Given the description of an element on the screen output the (x, y) to click on. 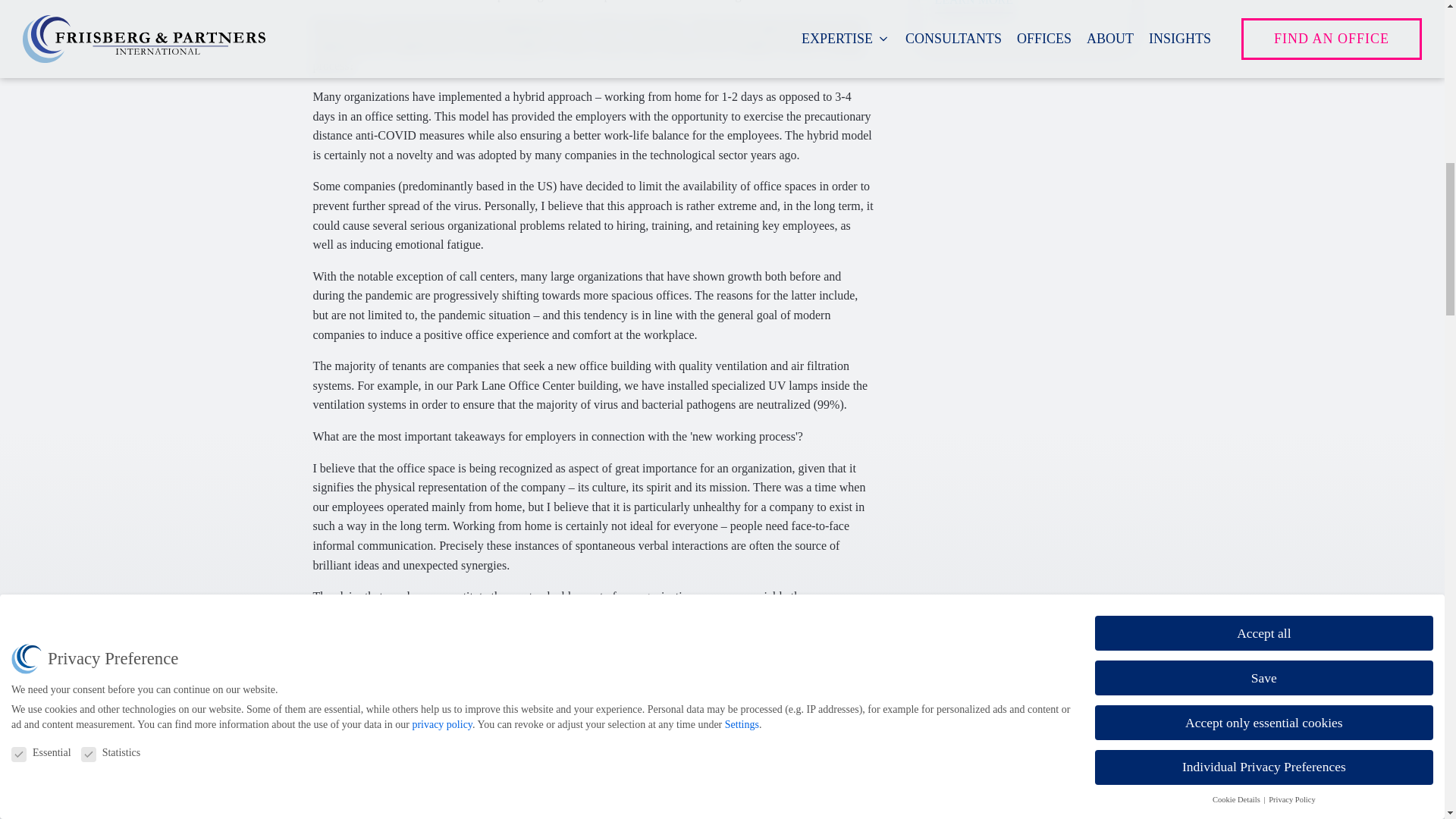
LEARN MORE (973, 6)
